Given the description of an element on the screen output the (x, y) to click on. 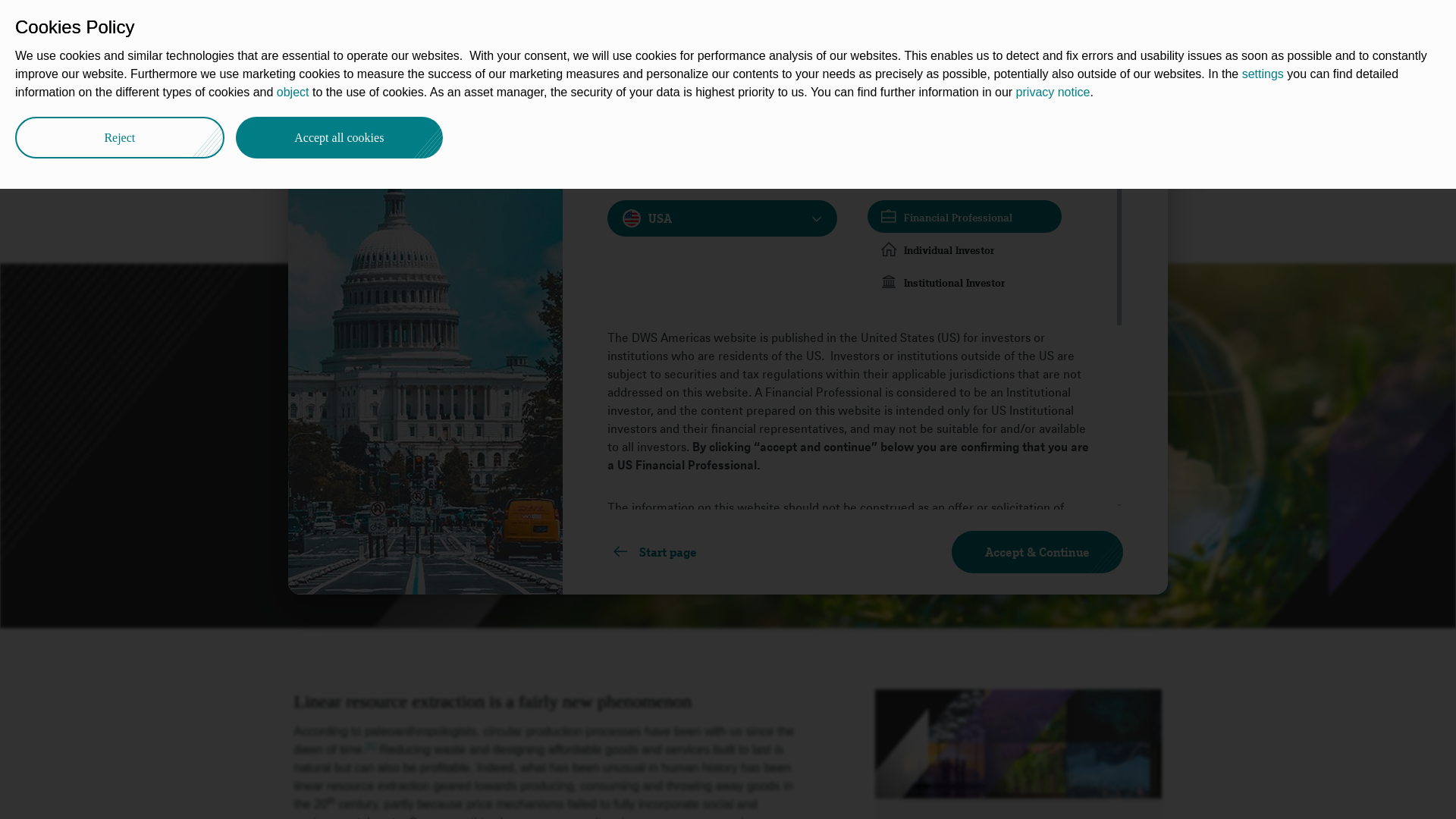
Products (673, 24)
Strategies (551, 24)
Insights (376, 92)
DWS - Investors for a new now (322, 92)
Insights (420, 24)
Macro (531, 92)
Print (1159, 91)
Home (322, 92)
Capabilities (483, 24)
Insights (376, 92)
Solutions (614, 24)
Resources (736, 24)
Profile (792, 24)
Macro (531, 92)
Global CIO View (455, 92)
